Given the description of an element on the screen output the (x, y) to click on. 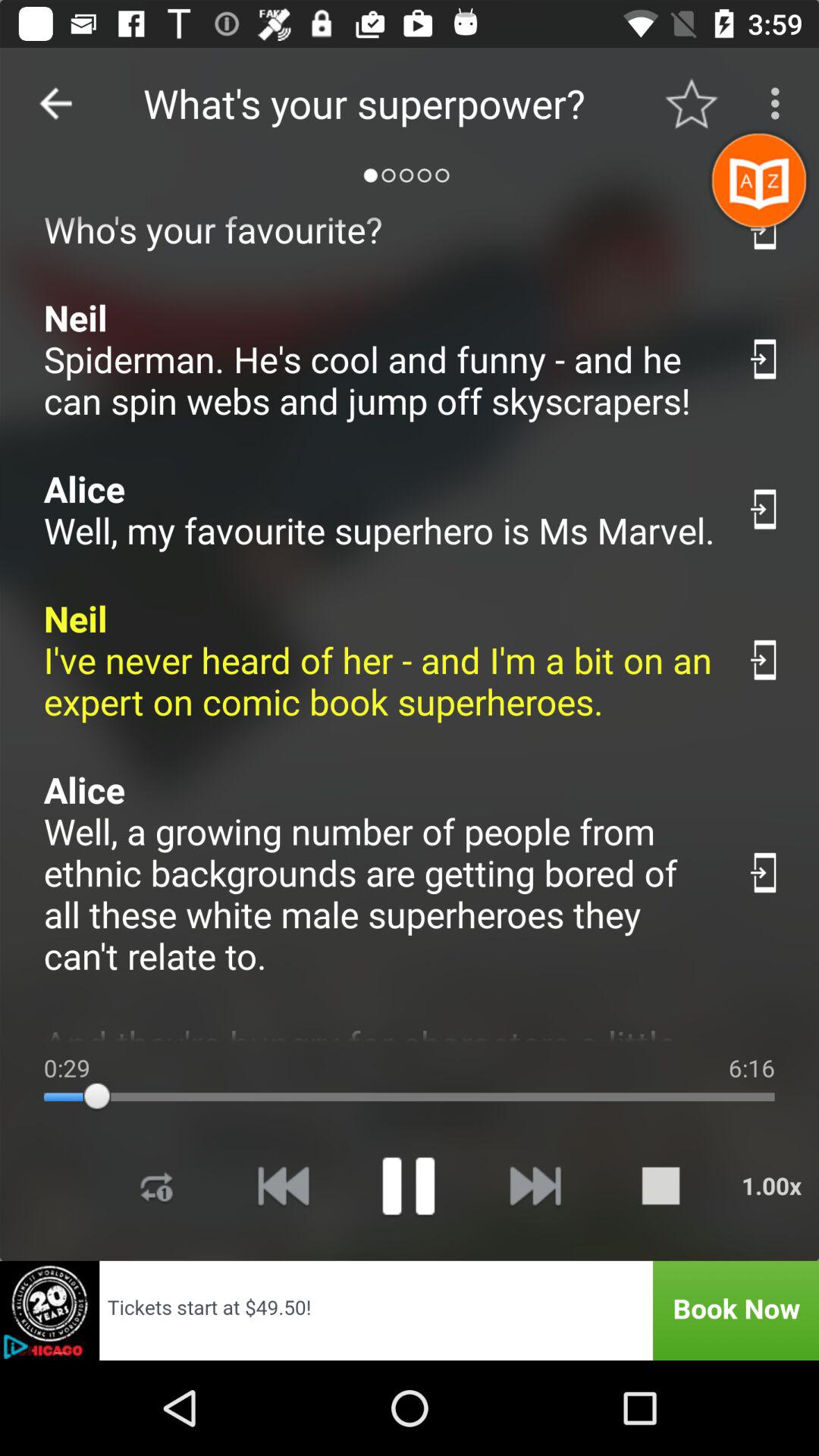
go back (55, 103)
